Given the description of an element on the screen output the (x, y) to click on. 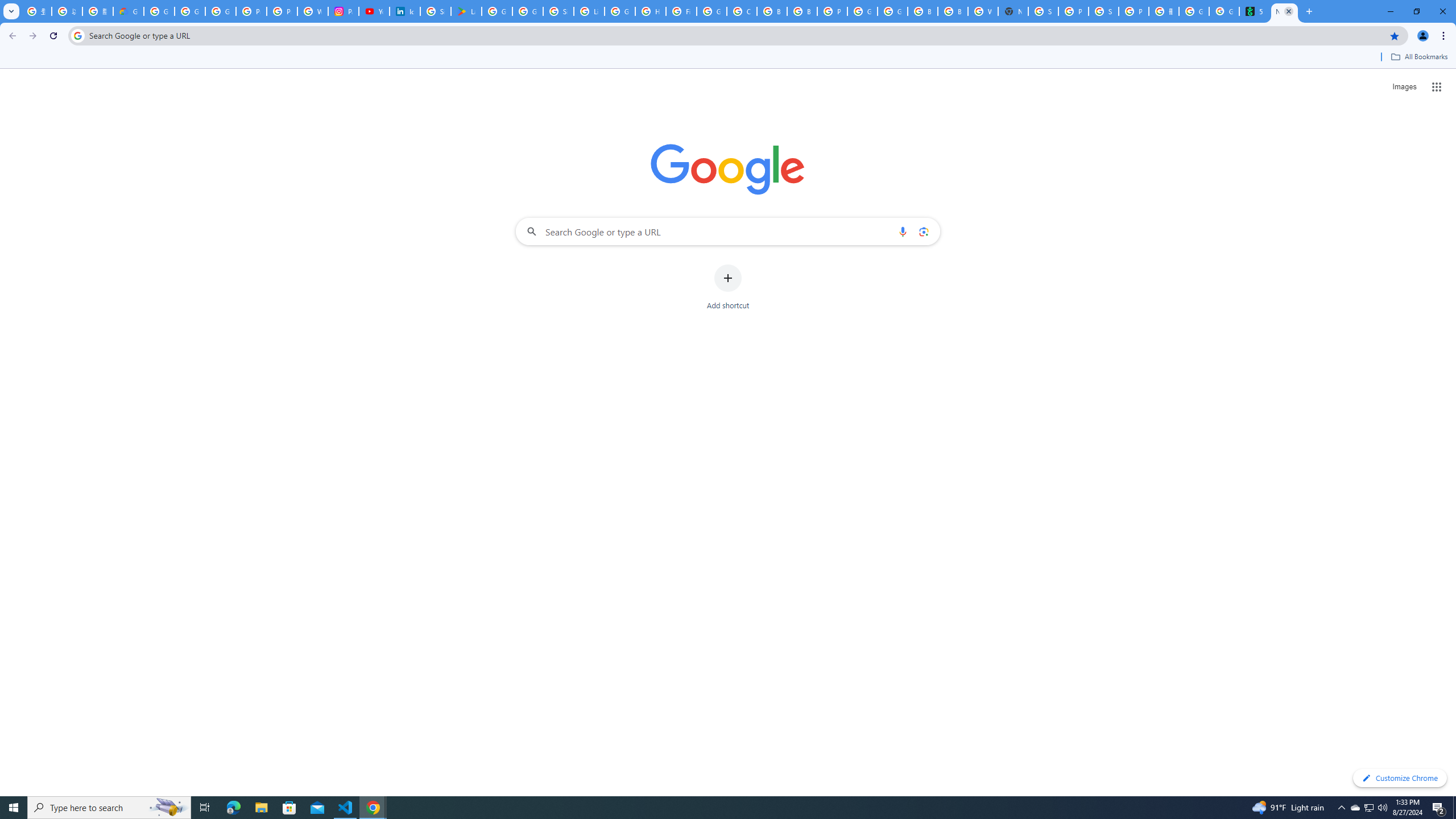
How do I create a new Google Account? - Google Account Help (650, 11)
